Given the description of an element on the screen output the (x, y) to click on. 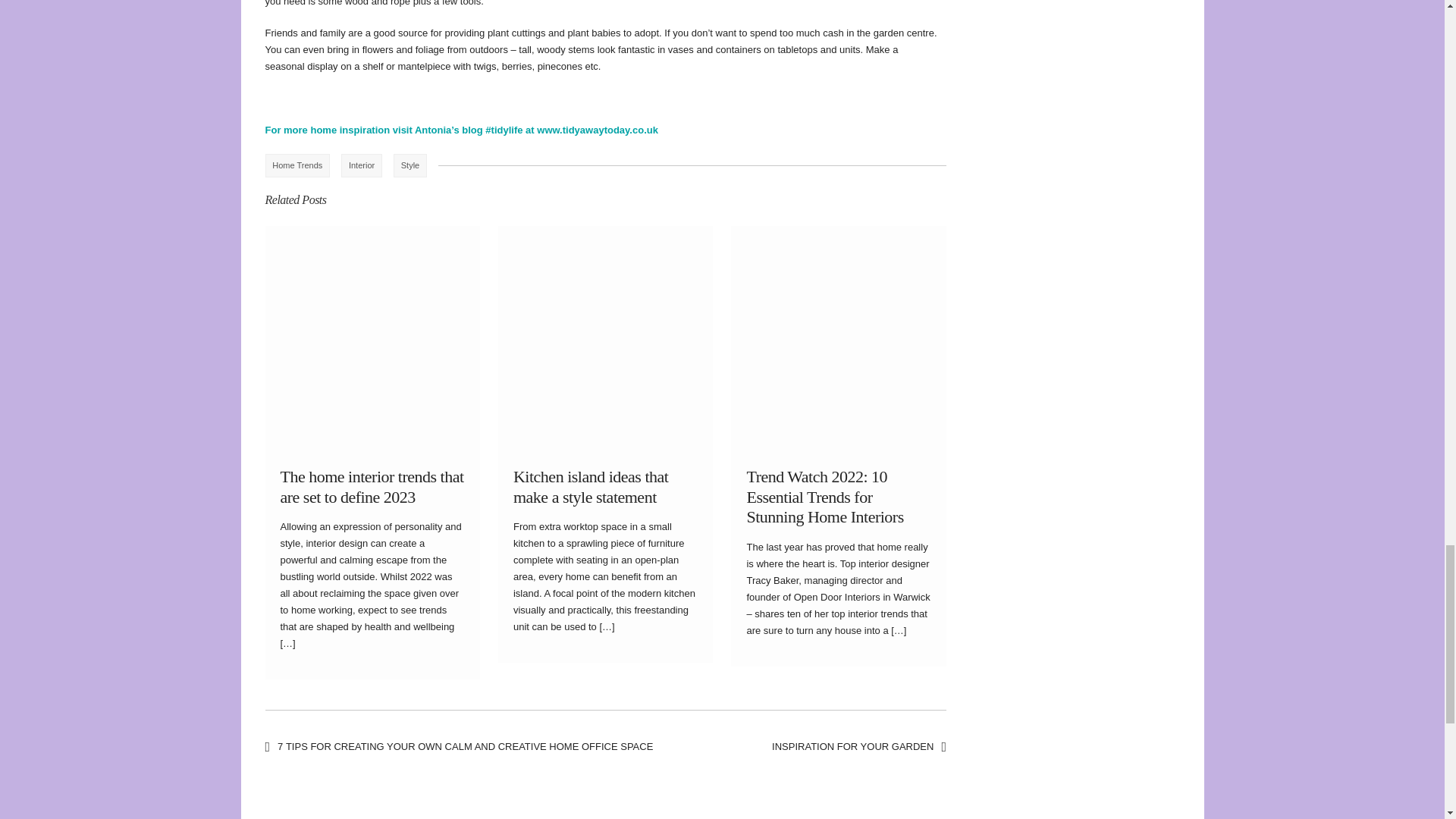
Style (409, 165)
INSPIRATION FOR YOUR GARDEN (858, 746)
The home interior trends that are set to define 2023 (372, 486)
Kitchen island ideas that make a style statement (590, 486)
Home Trends (297, 165)
Interior (360, 165)
The home interior trends that are set to define 2023 (372, 486)
Kitchen island ideas that make a style statement (590, 486)
